Given the description of an element on the screen output the (x, y) to click on. 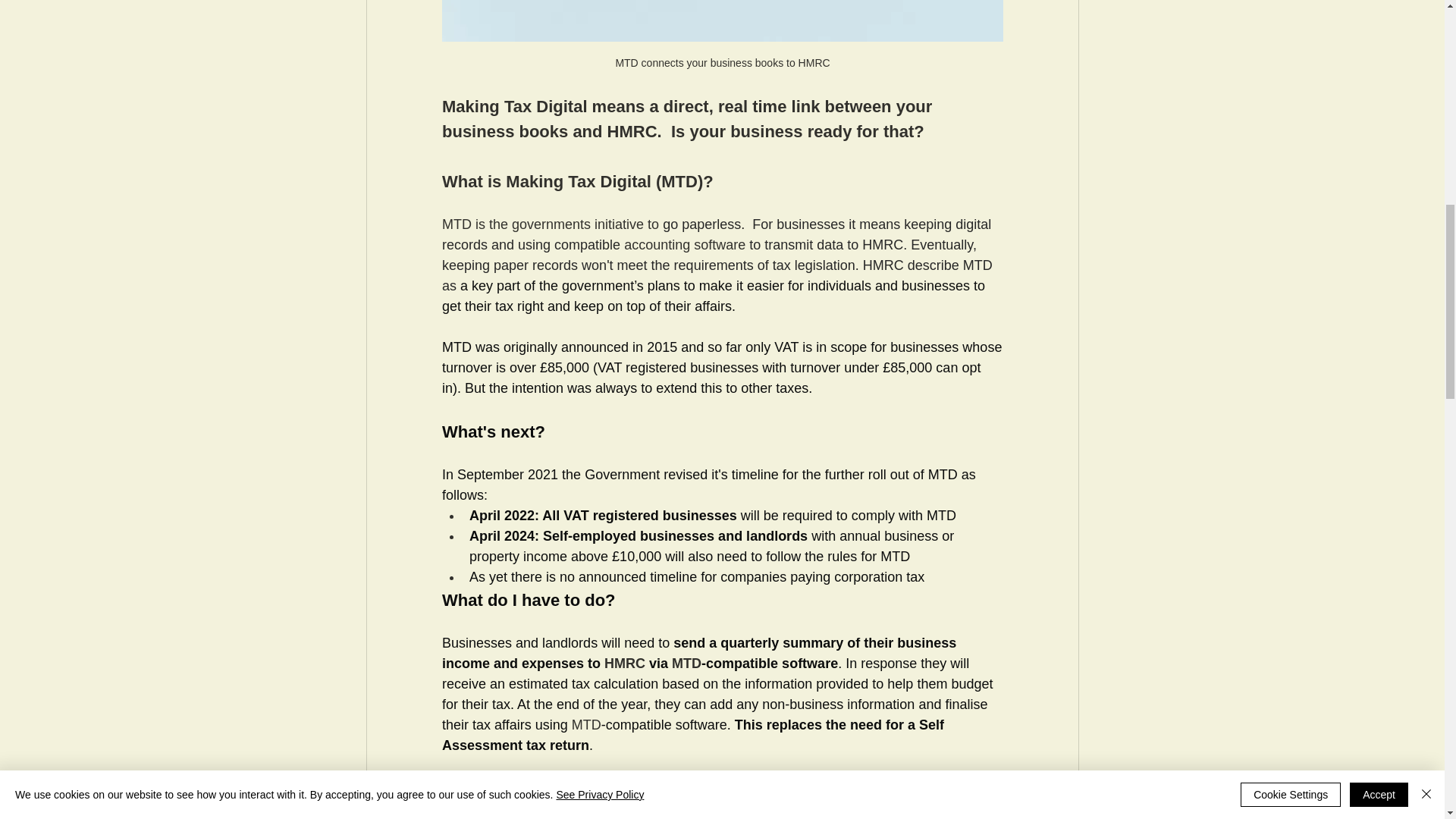
accounting software (684, 244)
